Given the description of an element on the screen output the (x, y) to click on. 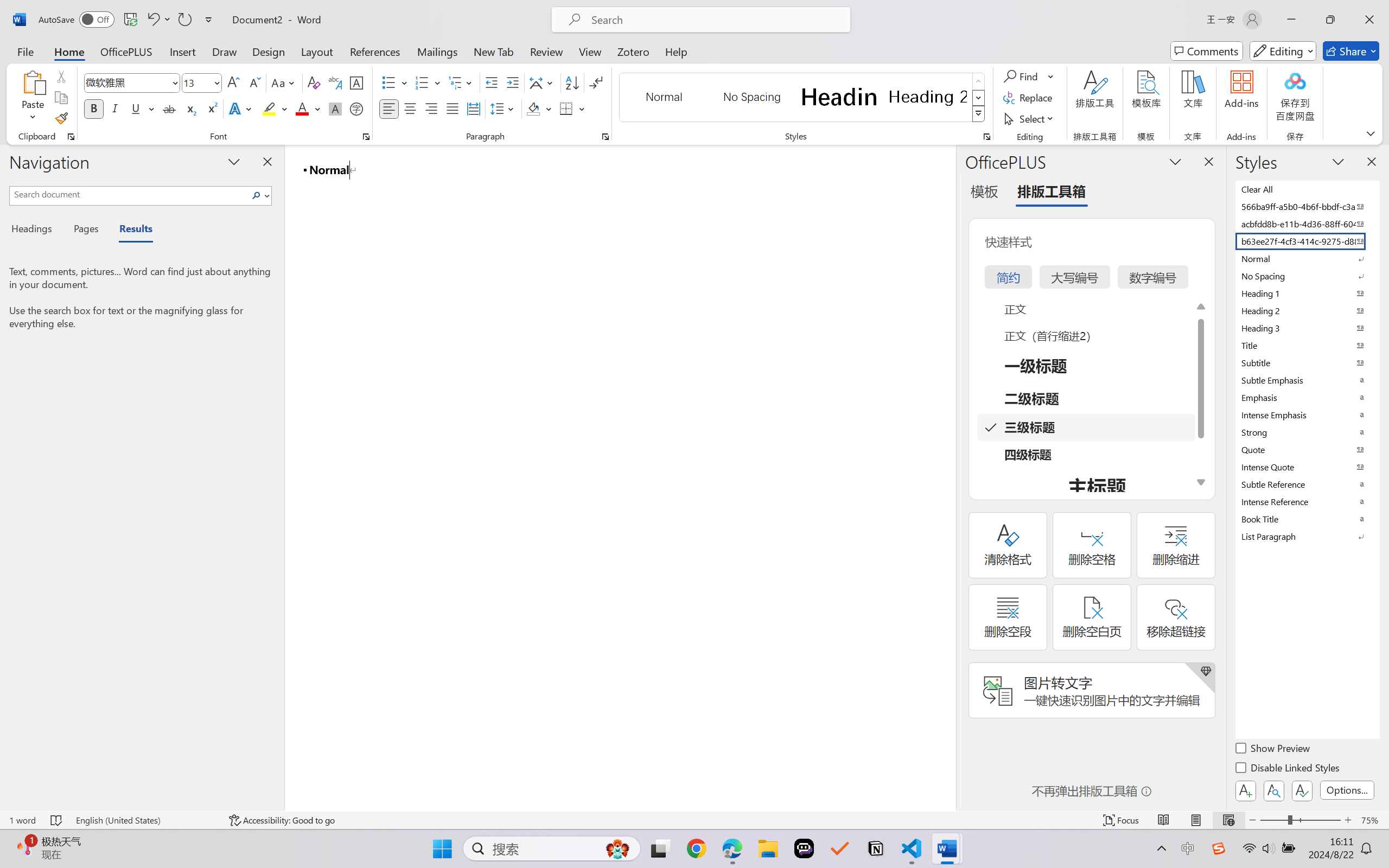
Insert (182, 51)
Intense Quote (1306, 466)
Intense Reference (1306, 501)
Design (268, 51)
Help (675, 51)
Word Count 1 word (21, 819)
Office Clipboard... (70, 136)
Justify (452, 108)
Paragraph... (605, 136)
